Given the description of an element on the screen output the (x, y) to click on. 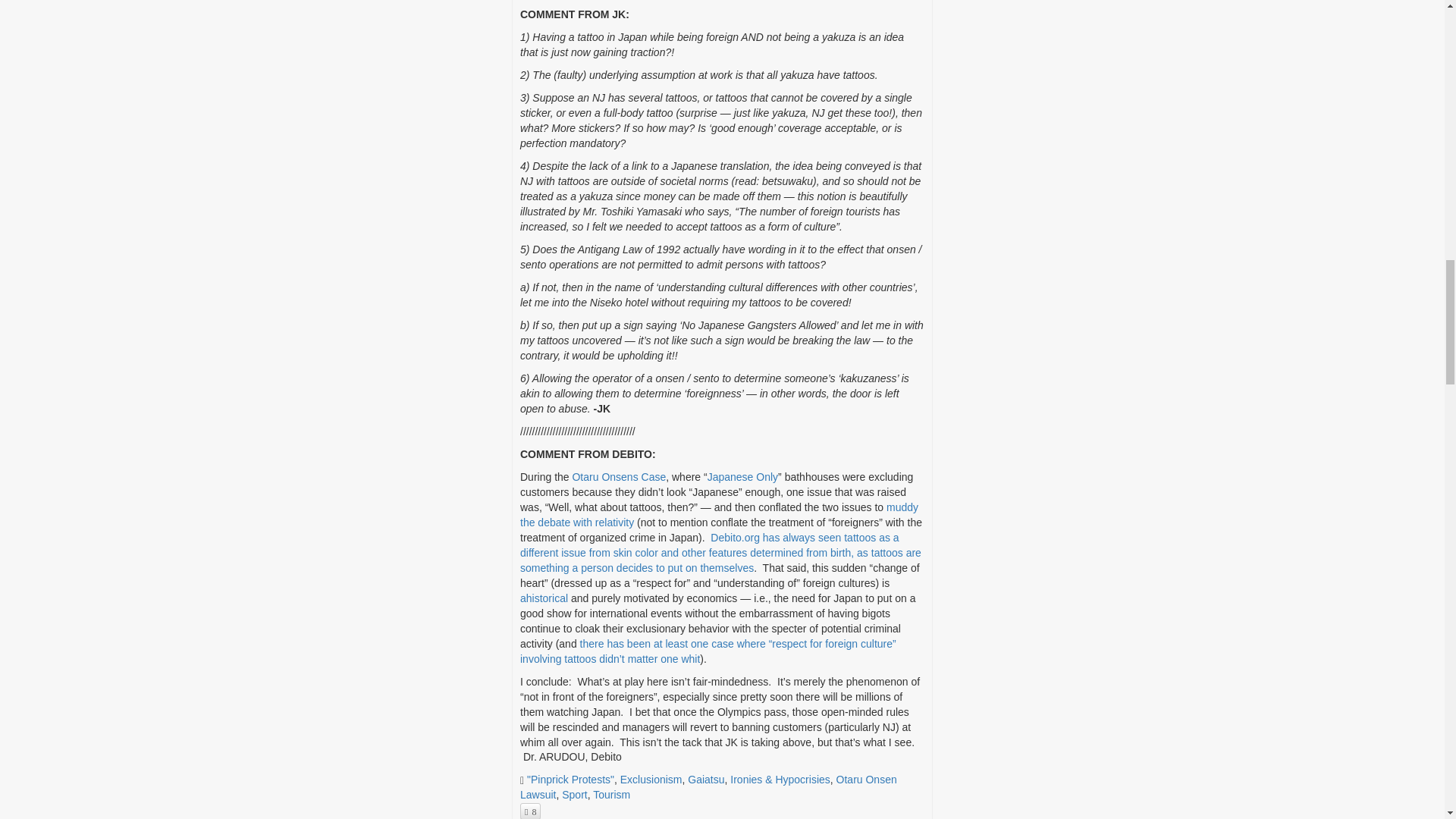
Gaiatsu (705, 779)
ahistorical (543, 598)
Otaru Onsens Case (618, 476)
Exclusionism (651, 779)
muddy the debate with relativity (718, 514)
"Pinprick Protests" (570, 779)
Otaru Onsen Lawsuit (707, 786)
Japanese Only (742, 476)
